Given the description of an element on the screen output the (x, y) to click on. 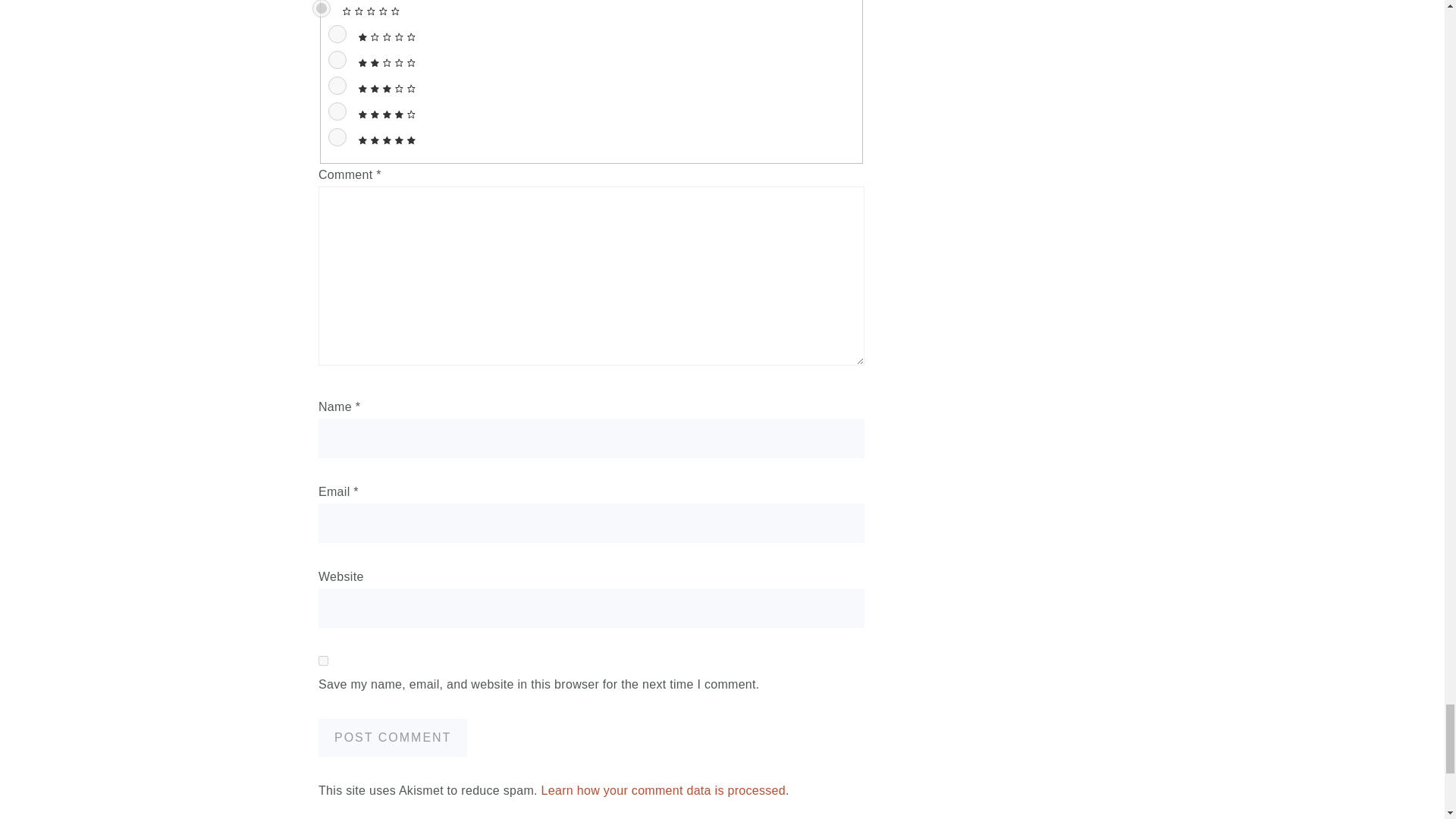
3 (337, 85)
1 (337, 34)
5 (337, 136)
2 (337, 59)
Post Comment (392, 737)
yes (323, 660)
0 (321, 8)
4 (337, 111)
